Given the description of an element on the screen output the (x, y) to click on. 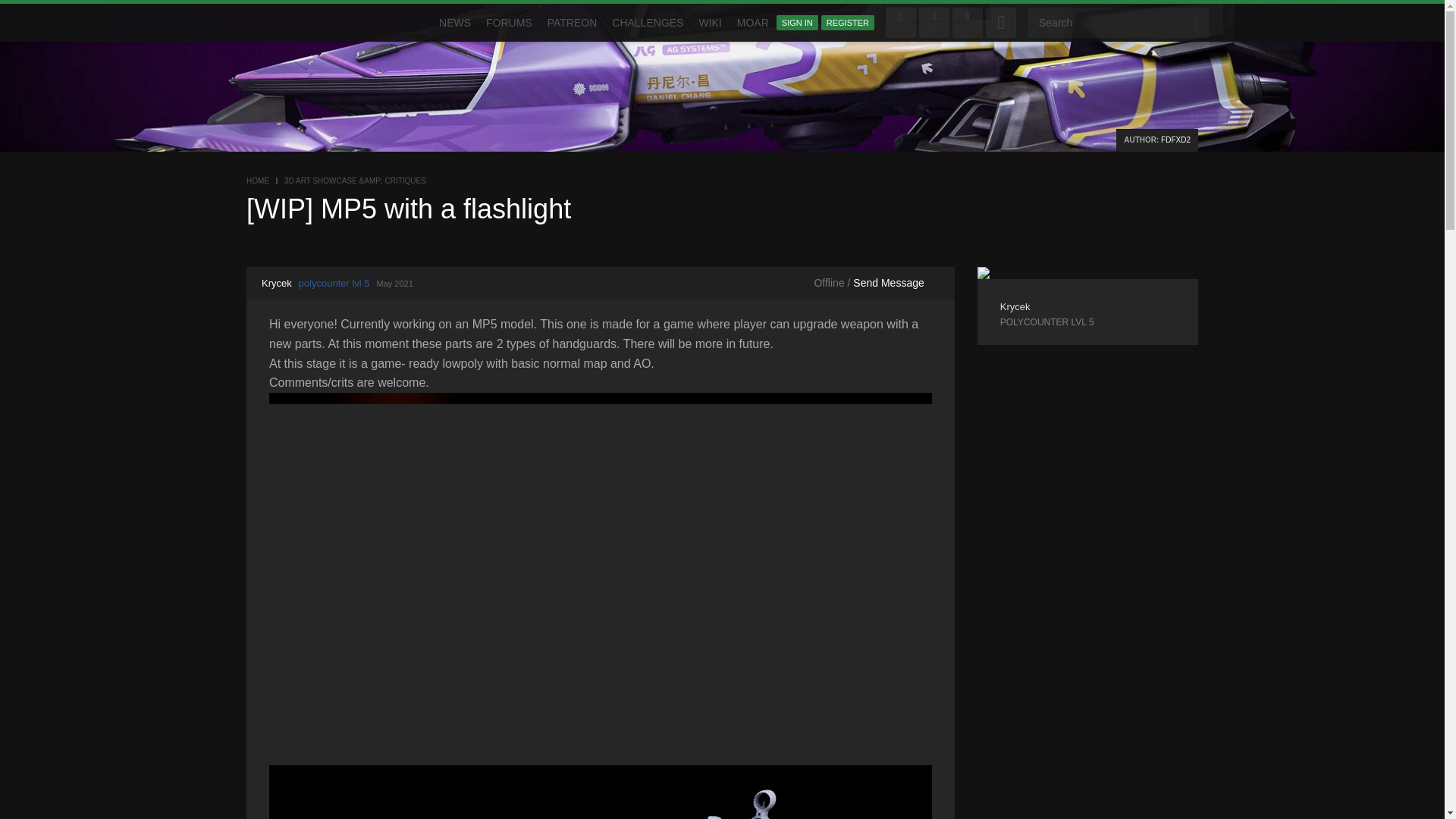
SIGN IN (797, 22)
Krycek (277, 283)
MOAR (752, 22)
Sign In with Twitter (933, 22)
May 19, 2021 8:51PM (393, 283)
Send Message (888, 282)
CHALLENGES (647, 22)
FDFXD2 (1175, 139)
Enter your search term. (1118, 22)
Sign In with Steam (1000, 22)
NEWS (454, 22)
HOME (257, 180)
REGISTER (848, 22)
WIKI (709, 22)
Polycount (287, 22)
